Given the description of an element on the screen output the (x, y) to click on. 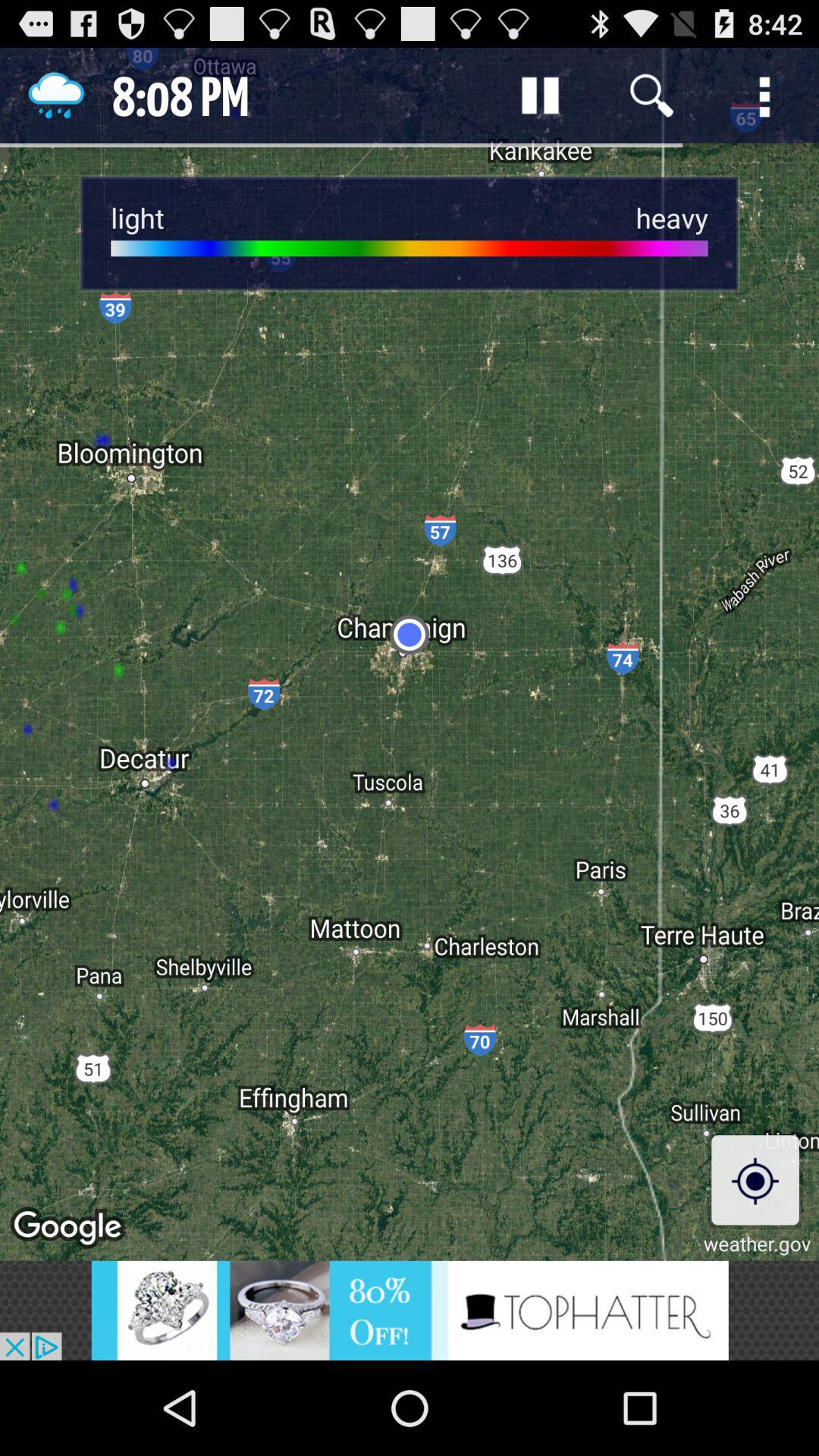
advertisements are displayed (409, 1310)
